Given the description of an element on the screen output the (x, y) to click on. 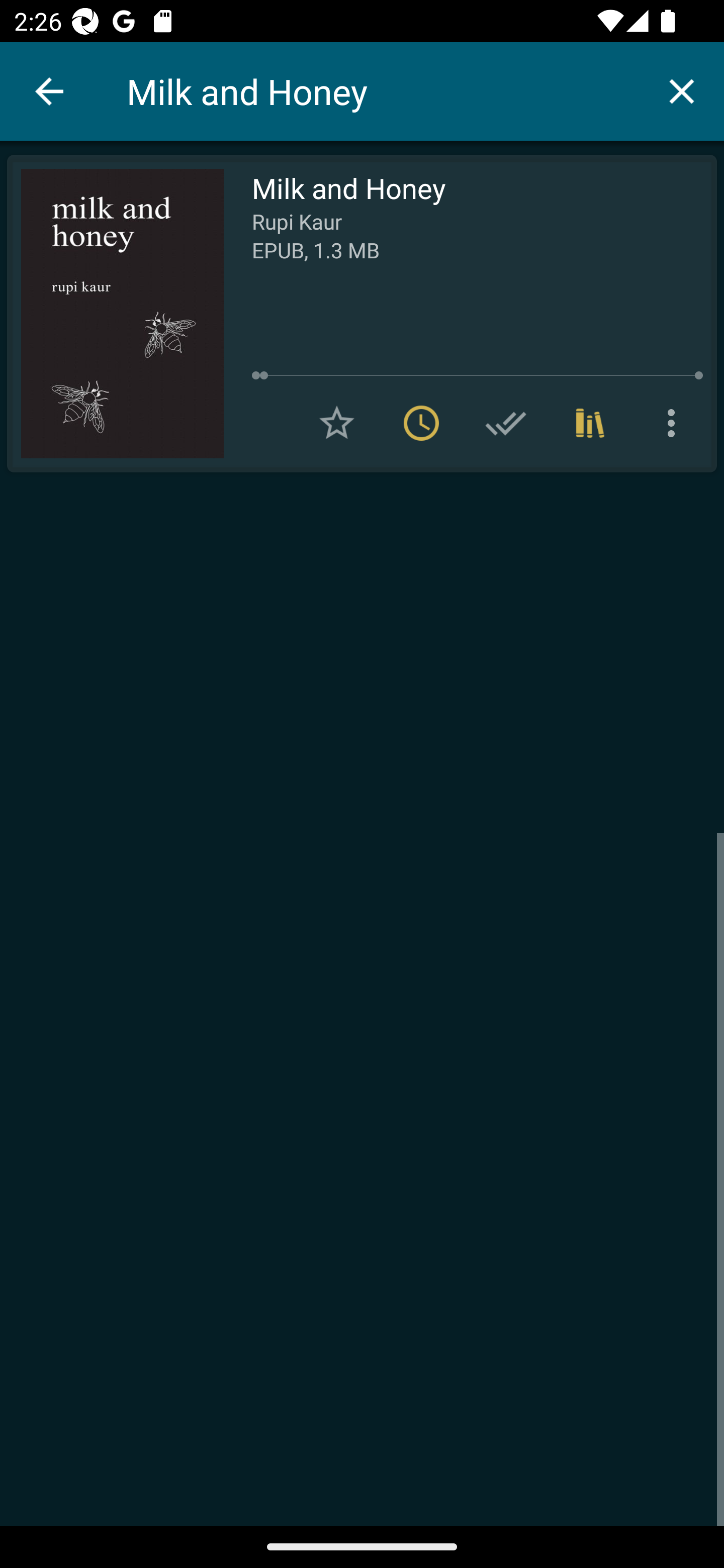
Back (49, 91)
Milk and Honey (382, 91)
Clear (681, 90)
Read Milk and Honey (115, 313)
Add to Favorites (336, 423)
Remove from To read (421, 423)
Add to Have read (505, 423)
Collections (4) (590, 423)
More options (674, 423)
